Given the description of an element on the screen output the (x, y) to click on. 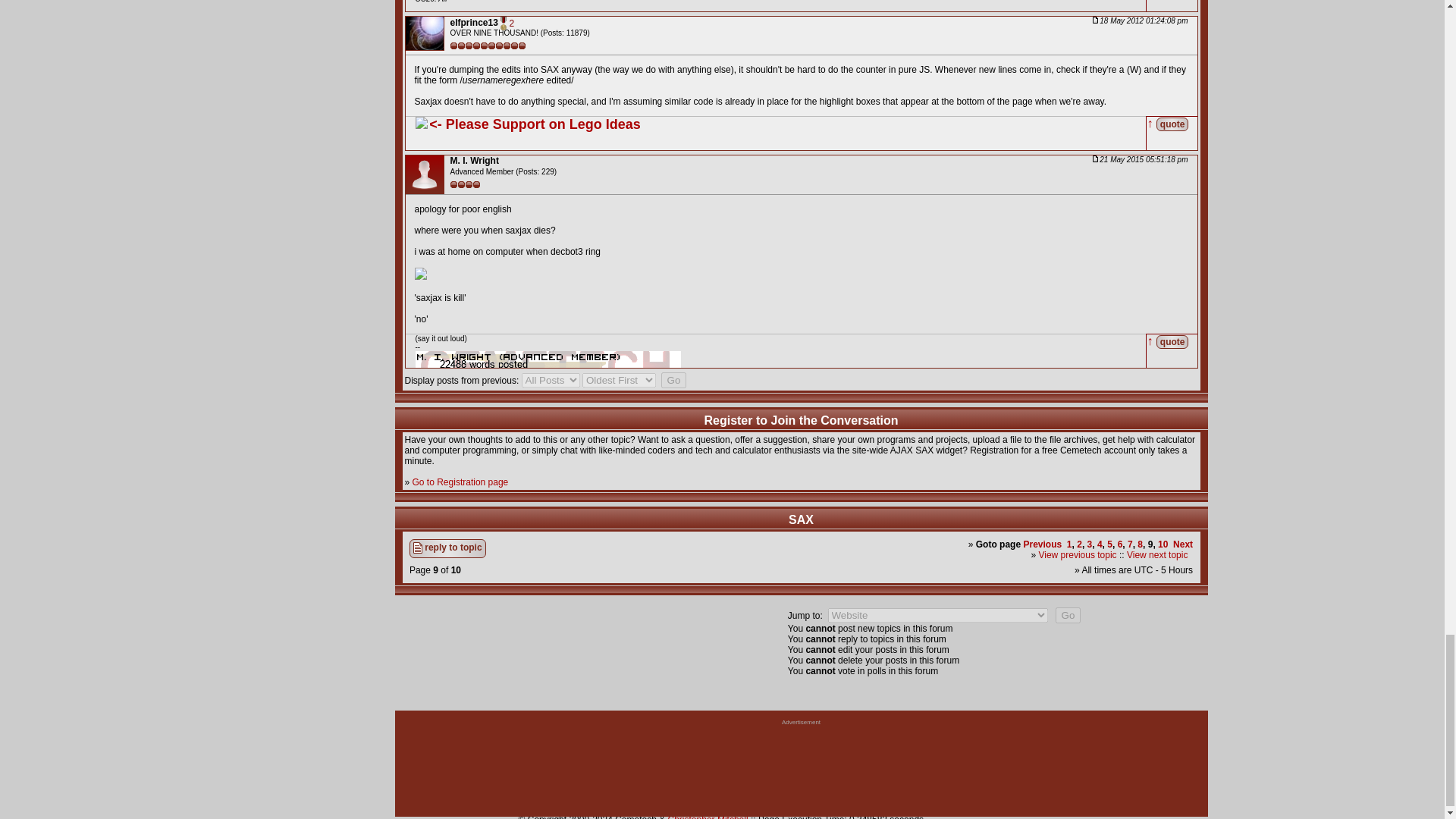
Go (1068, 615)
Go (674, 380)
